Given the description of an element on the screen output the (x, y) to click on. 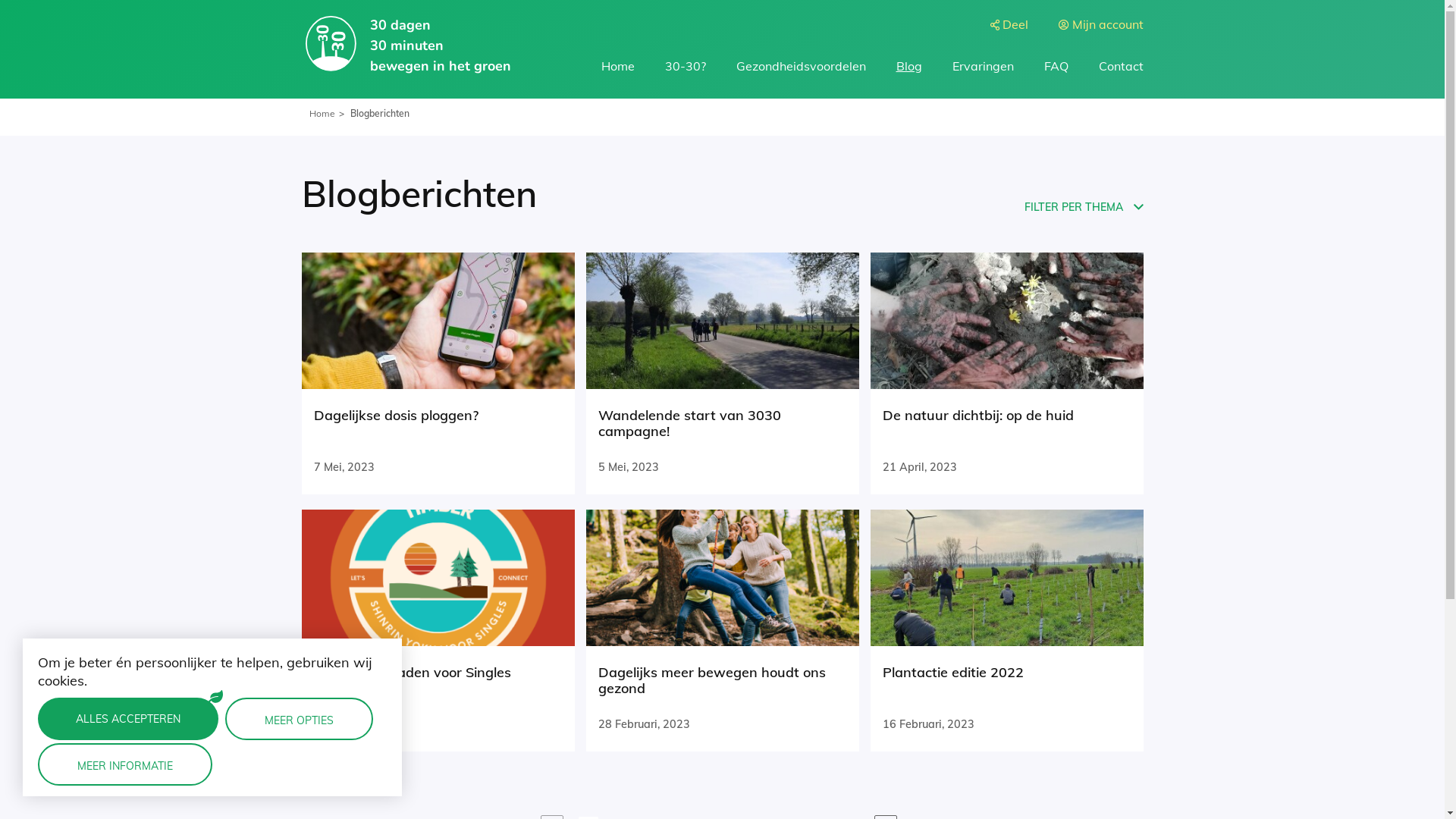
30-30? Element type: text (684, 65)
Contact Element type: text (1120, 65)
Ervaringen Element type: text (982, 65)
Mijn account Element type: text (1107, 23)
FILTER PER THEMA Element type: text (1083, 207)
Blogberichten Element type: text (379, 113)
30 dagen
30 minuten
bewegen in het groen Element type: text (406, 45)
Home Element type: text (322, 113)
Deel Element type: text (1015, 23)
ALLES ACCEPTEREN Element type: text (127, 718)
Home Element type: text (616, 65)
Blog Element type: text (909, 65)
FAQ Element type: text (1055, 65)
Gezondheidsvoordelen Element type: text (800, 65)
MEER INFORMATIE Element type: text (124, 764)
MEER OPTIES Element type: text (299, 718)
